Given the description of an element on the screen output the (x, y) to click on. 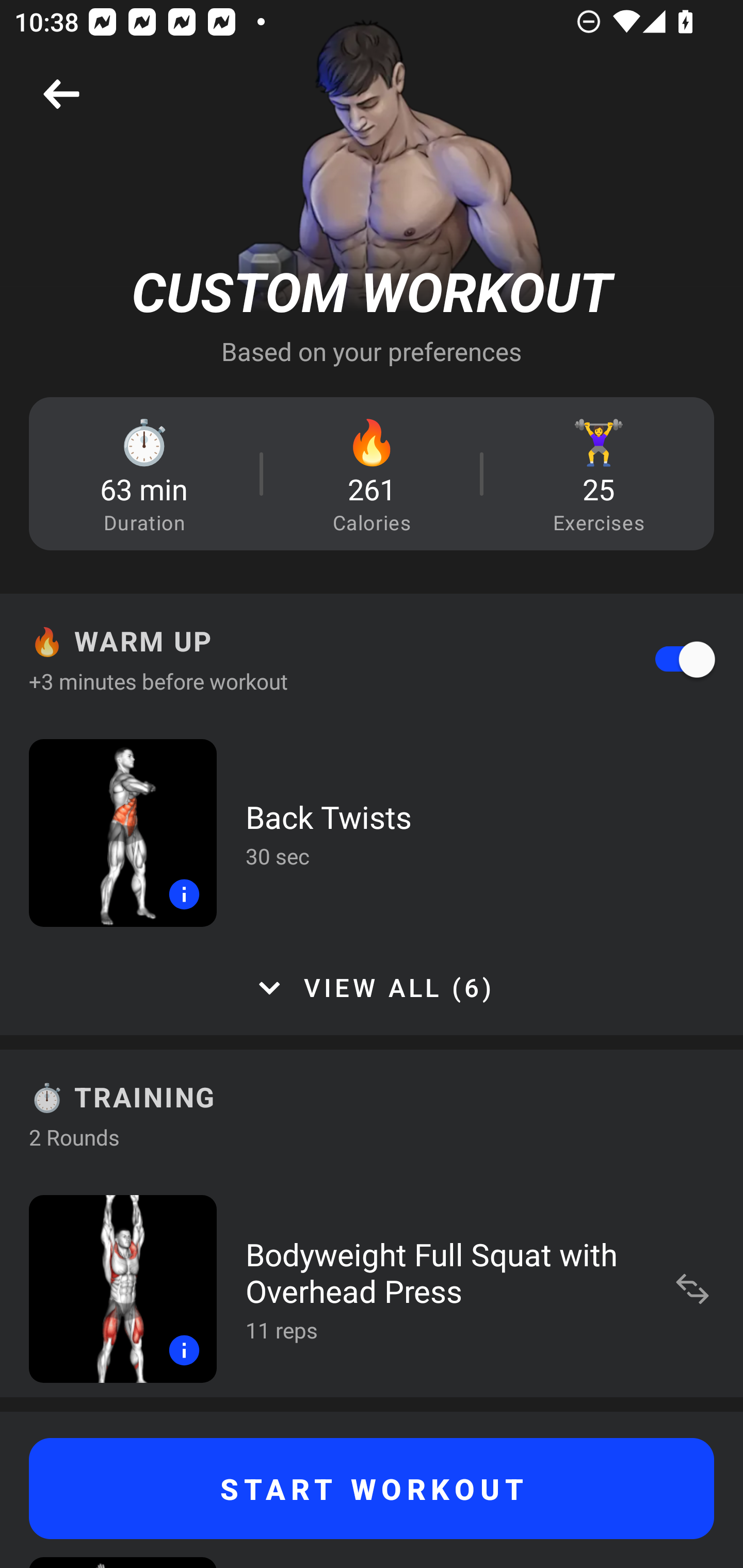
Back Twists 30 sec (371, 832)
VIEW ALL (6) (371, 987)
Bodyweight Full Squat with Overhead Press 11 reps (371, 1288)
START WORKOUT (371, 1488)
